Given the description of an element on the screen output the (x, y) to click on. 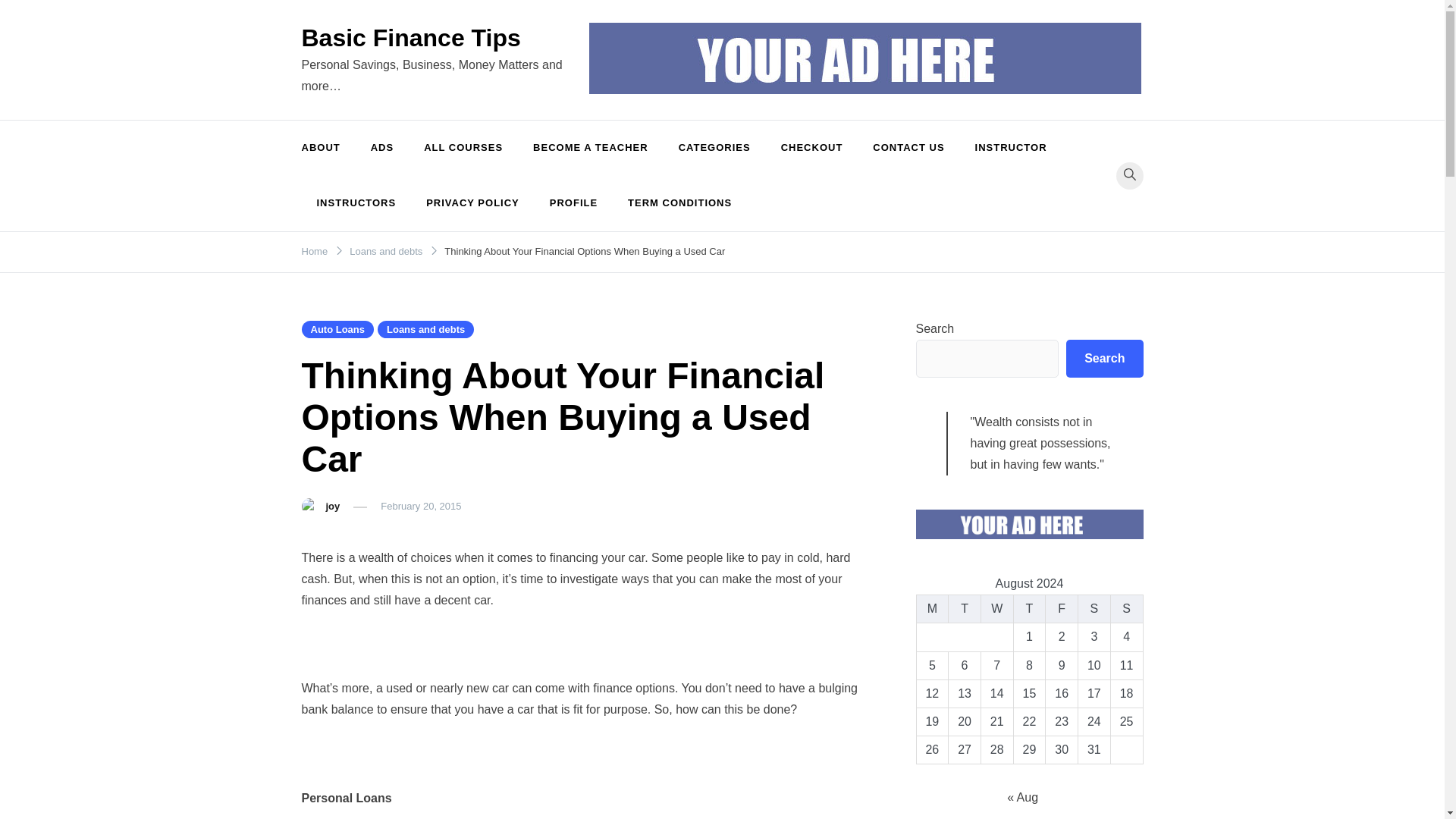
PROFILE (573, 203)
February 20, 2015 (420, 505)
PRIVACY POLICY (472, 203)
Home (315, 251)
ALL COURSES (463, 148)
Wednesday (996, 609)
Monday (932, 609)
INSTRUCTORS (356, 203)
ADS (382, 148)
ABOUT (328, 148)
